Given the description of an element on the screen output the (x, y) to click on. 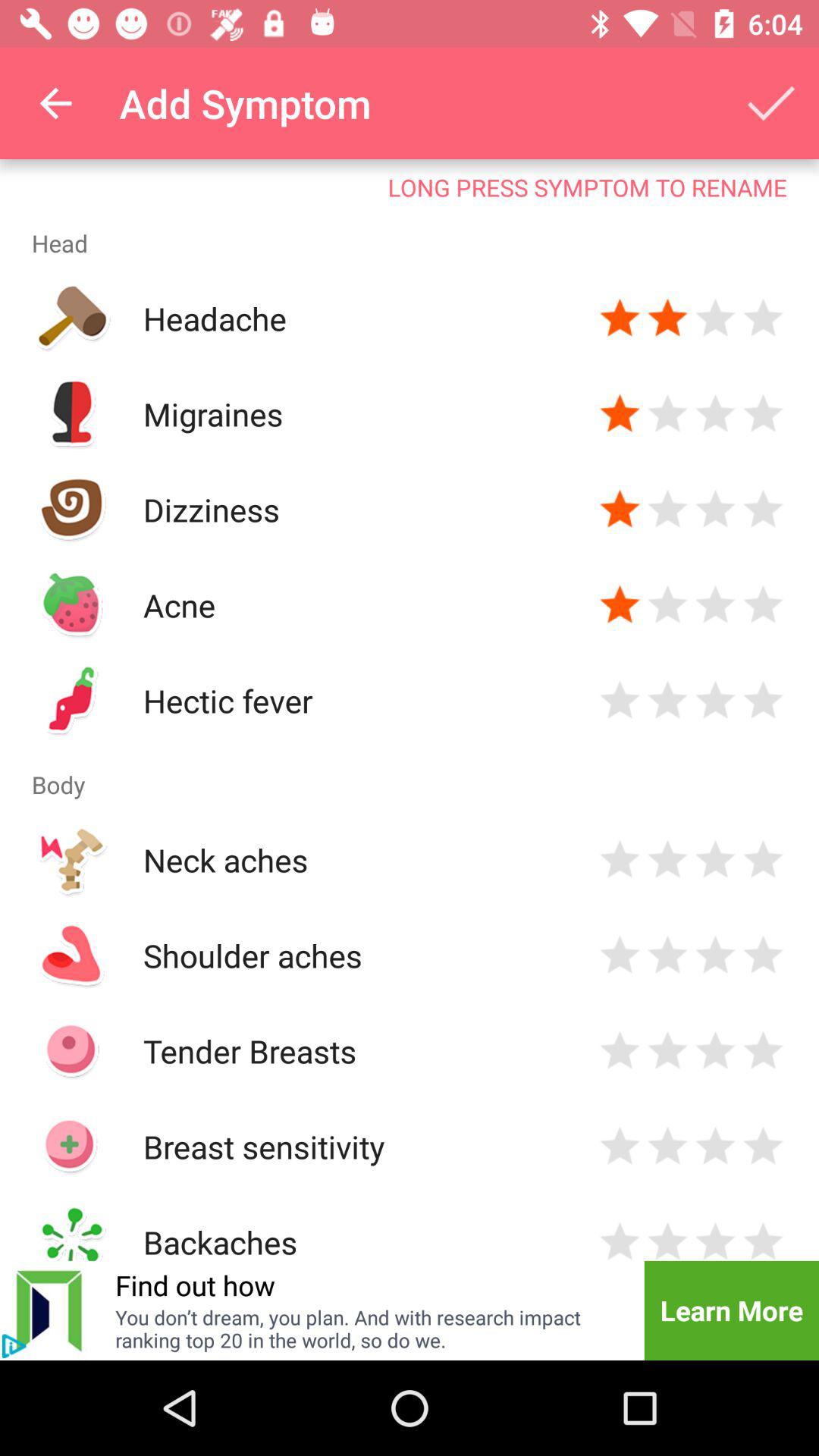
give three stars (715, 318)
